Given the description of an element on the screen output the (x, y) to click on. 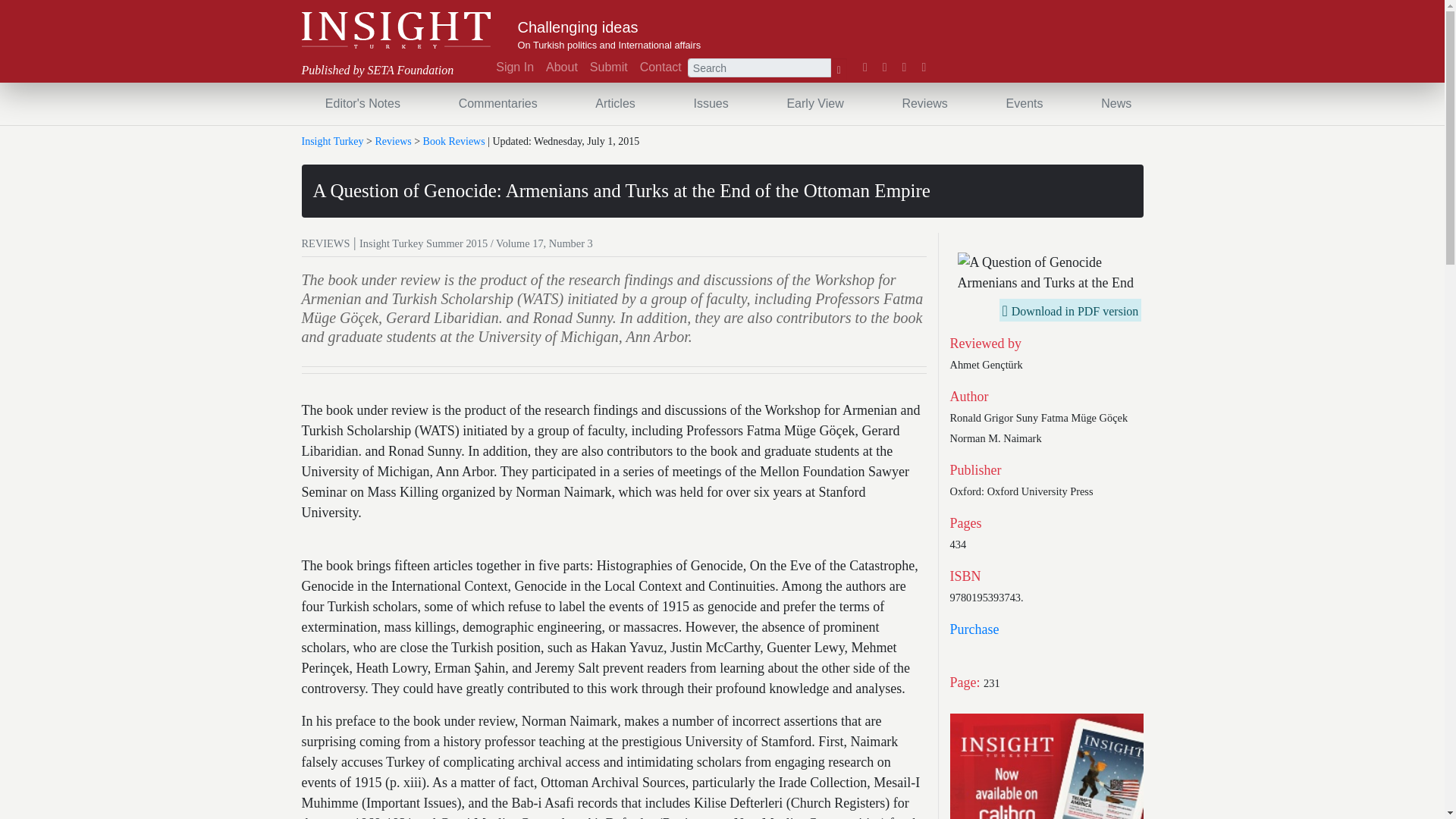
Insight Turkey Linkedin (904, 67)
Editor's Notes (362, 103)
Early View (814, 103)
Submit (608, 67)
Twitter insightturkey (884, 67)
About (561, 67)
Insight Turkey (396, 29)
Contact (660, 67)
Commentaries (497, 103)
Insight Turkey (396, 30)
Insight Turkey Instagram (923, 67)
Submit (608, 67)
Articles (614, 103)
Facebook insightturkey (865, 67)
Issues (710, 103)
